Given the description of an element on the screen output the (x, y) to click on. 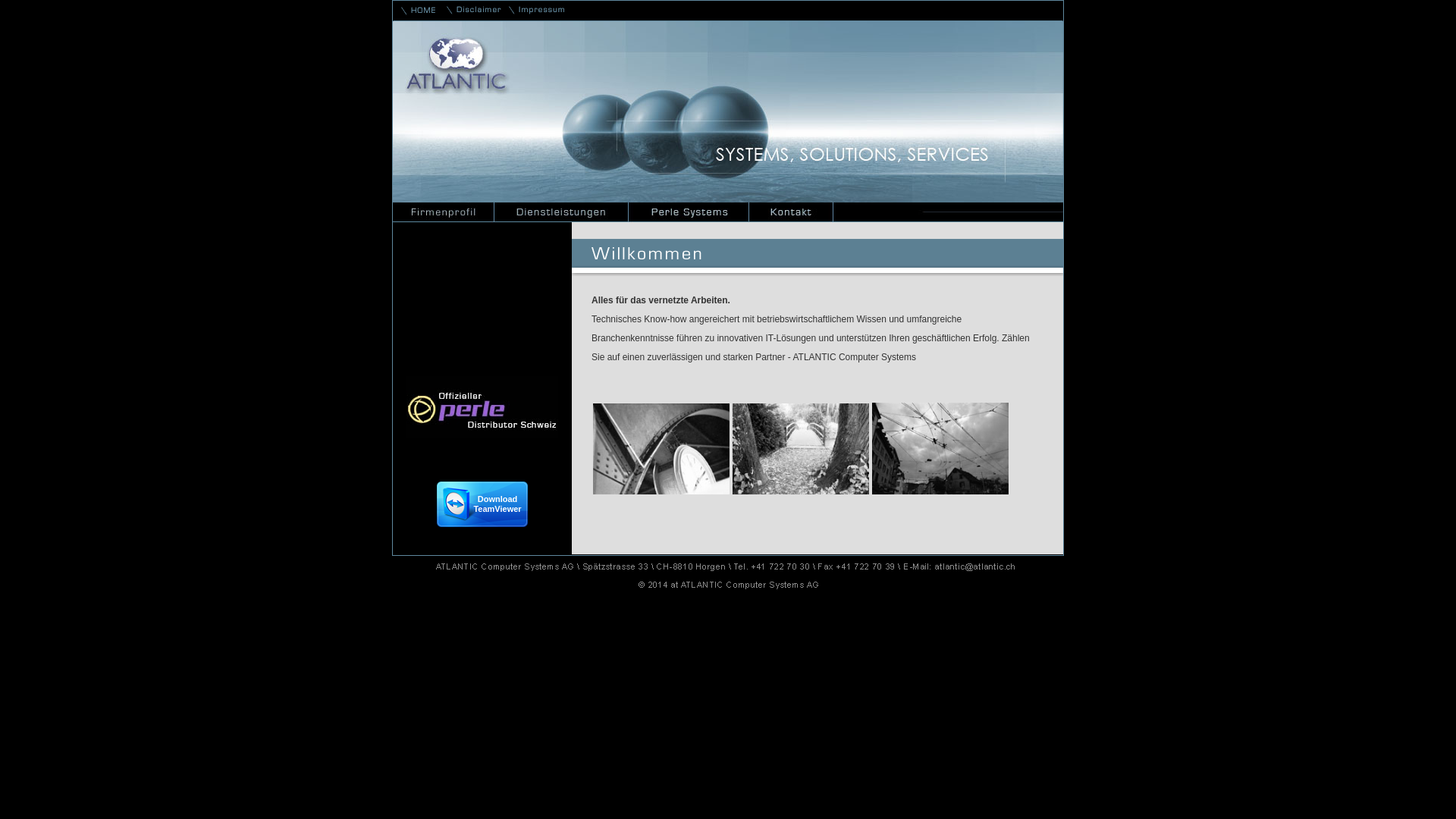
ATLANTIC Computer Systems AG Element type: hover (800, 448)
Download TeamViewer Vollversion Element type: hover (481, 504)
Download TeamViewer Element type: text (481, 522)
ATLANTIC Computer Systems AG Element type: hover (661, 448)
ATLANTIC Computer Systems AG Element type: hover (940, 448)
